Given the description of an element on the screen output the (x, y) to click on. 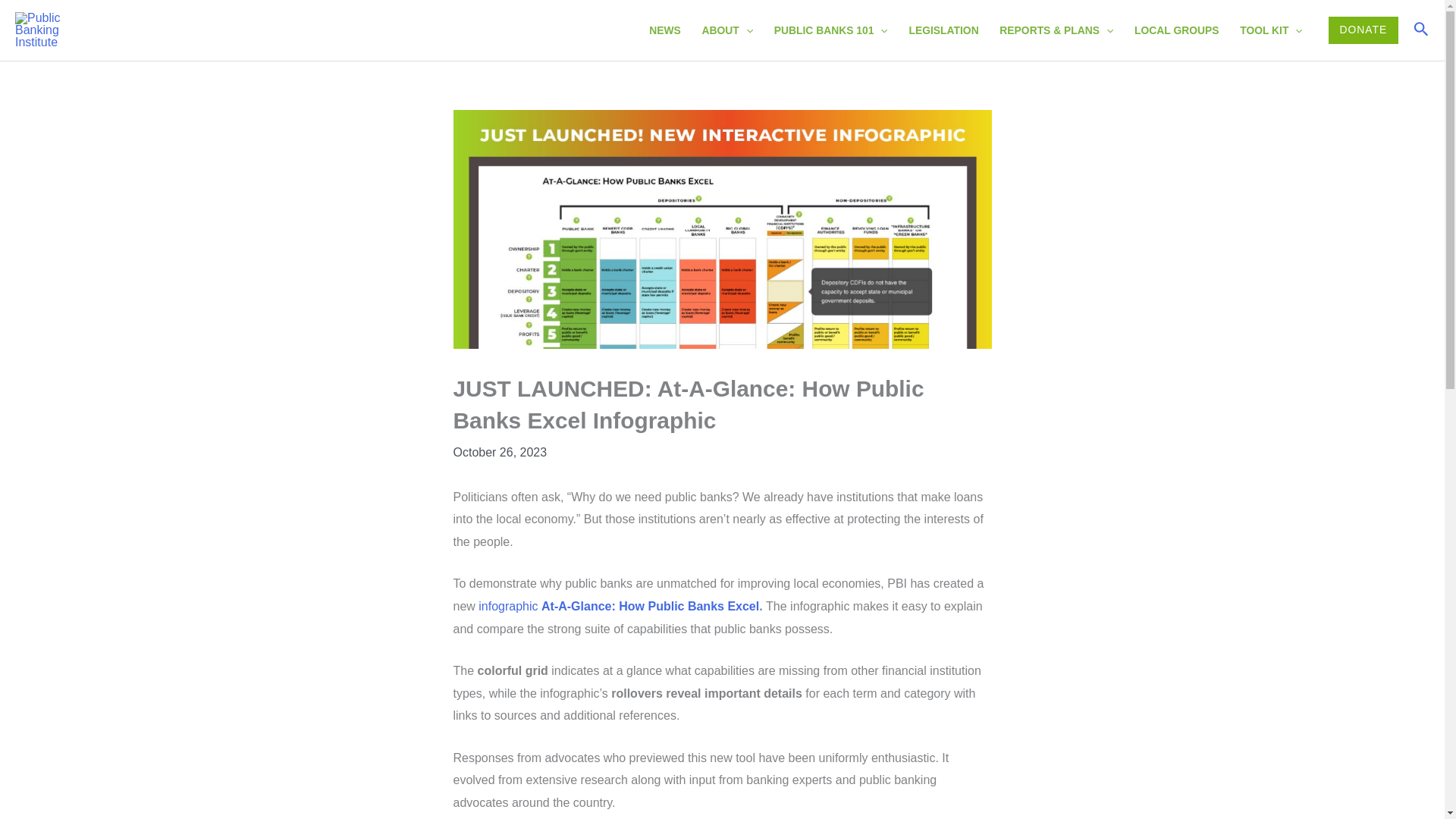
PUBLIC BANKS 101 (830, 30)
LOCAL GROUPS (1176, 30)
LEGISLATION (944, 30)
ABOUT (726, 30)
NEWS (664, 30)
TOOL KIT (1270, 30)
